Given the description of an element on the screen output the (x, y) to click on. 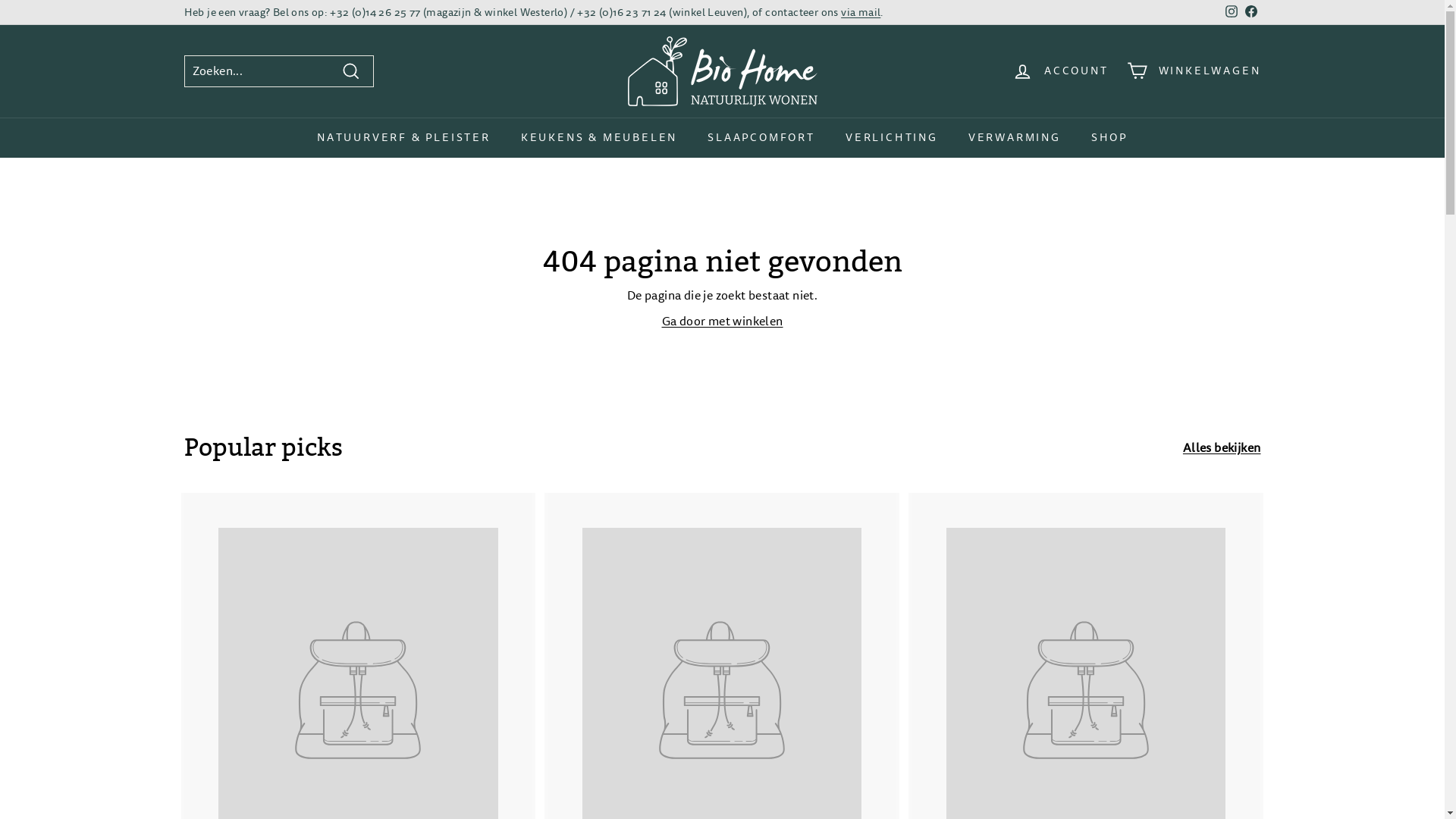
ACCOUNT Element type: text (1060, 70)
Instagram Element type: text (1230, 11)
SLAAPCOMFORT Element type: text (761, 137)
Ga door met winkelen Element type: text (721, 321)
Alles bekijken Element type: text (1222, 448)
Facebook Element type: text (1250, 11)
via mail Element type: text (860, 12)
NATUURVERF & PLEISTER Element type: text (403, 137)
SHOP Element type: text (1109, 137)
KEUKENS & MEUBELEN Element type: text (598, 137)
VERWARMING Element type: text (1014, 137)
VERLICHTING Element type: text (891, 137)
